Given the description of an element on the screen output the (x, y) to click on. 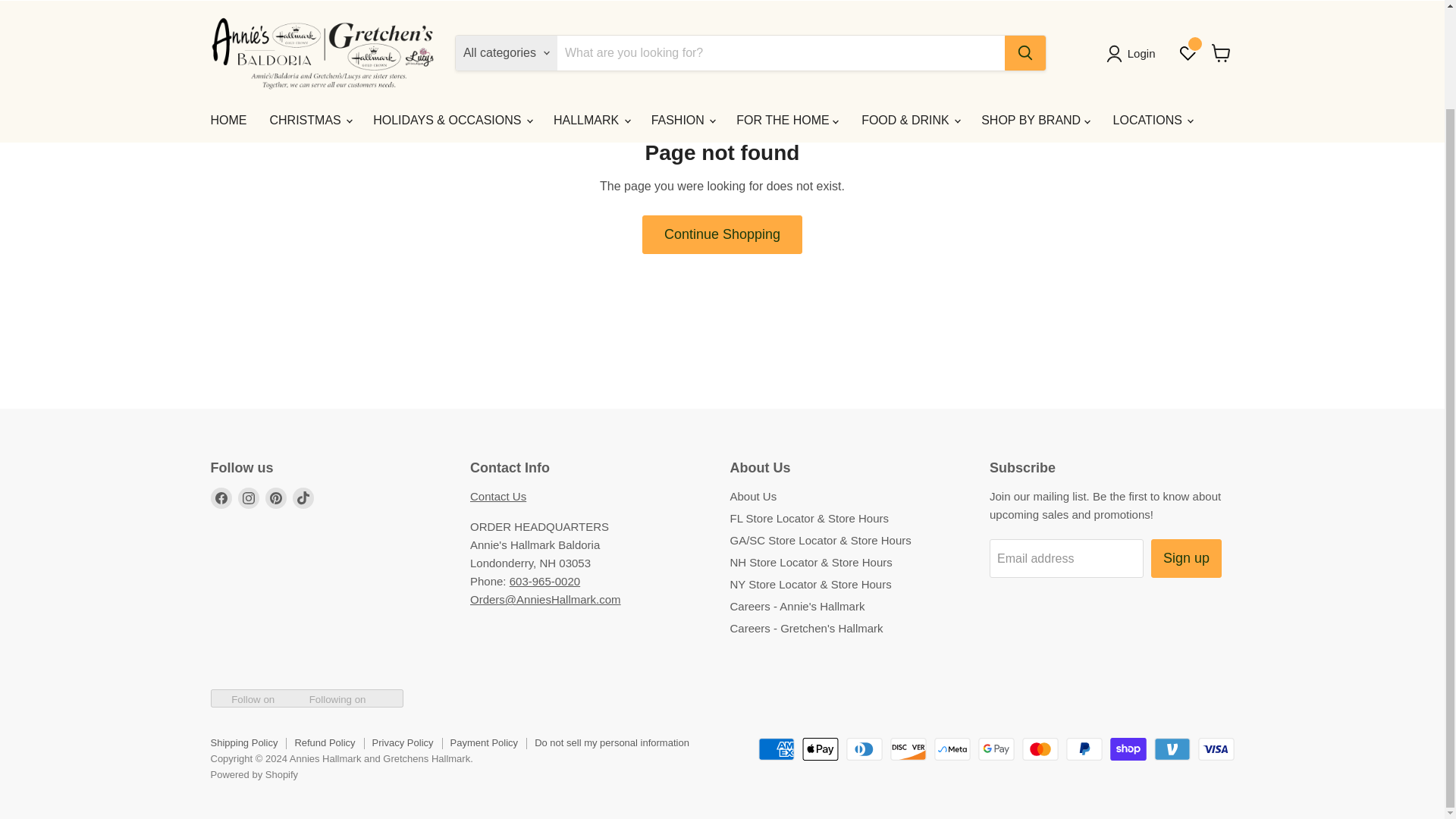
Apple Pay (820, 748)
Instagram (248, 497)
Pinterest (275, 497)
tel:603-965-0020 (544, 581)
American Express (776, 748)
HOME (227, 42)
TikTok (303, 497)
Facebook (221, 497)
Contact Us (497, 495)
Diners Club (863, 748)
